Given the description of an element on the screen output the (x, y) to click on. 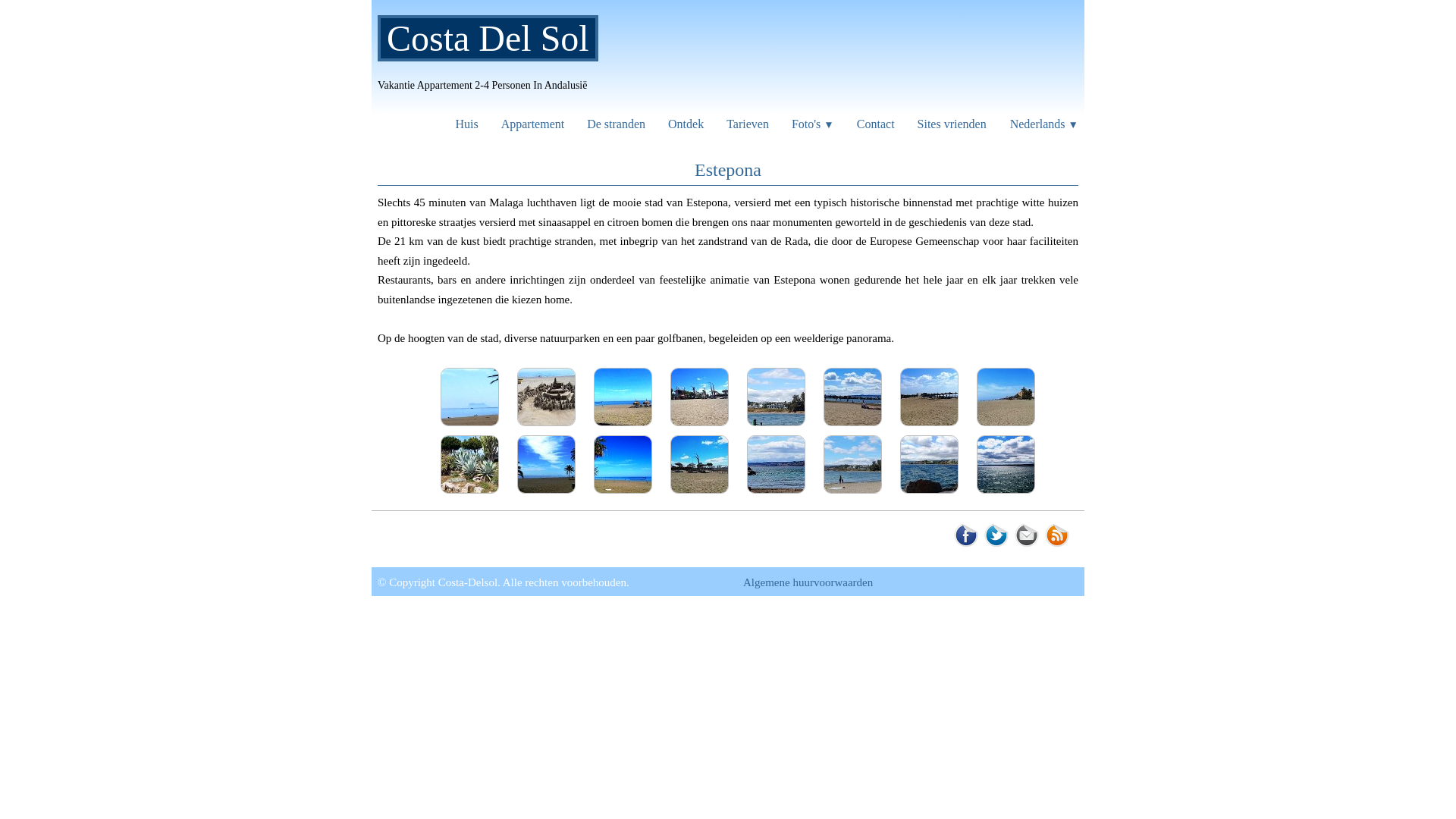
Appartement Element type: text (532, 124)
Contact Element type: text (875, 124)
Sites vrienden Element type: text (951, 124)
Algemene huurvoorwaarden Element type: text (807, 582)
Tarieven Element type: text (747, 124)
De stranden Element type: text (615, 124)
Huis Element type: text (466, 124)
Ontdek Element type: text (685, 124)
